Given the description of an element on the screen output the (x, y) to click on. 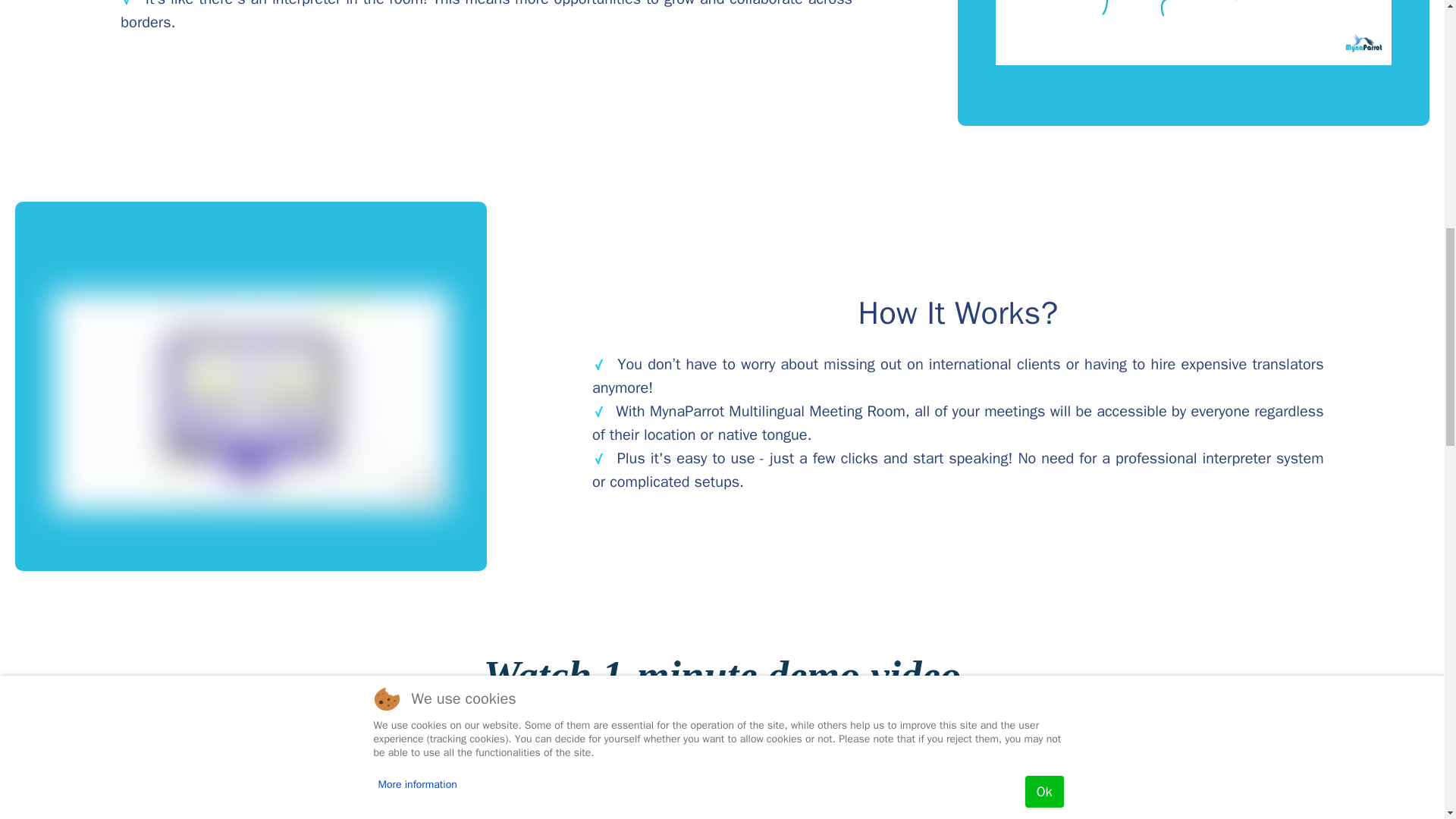
YouTube video player (721, 790)
